Given the description of an element on the screen output the (x, y) to click on. 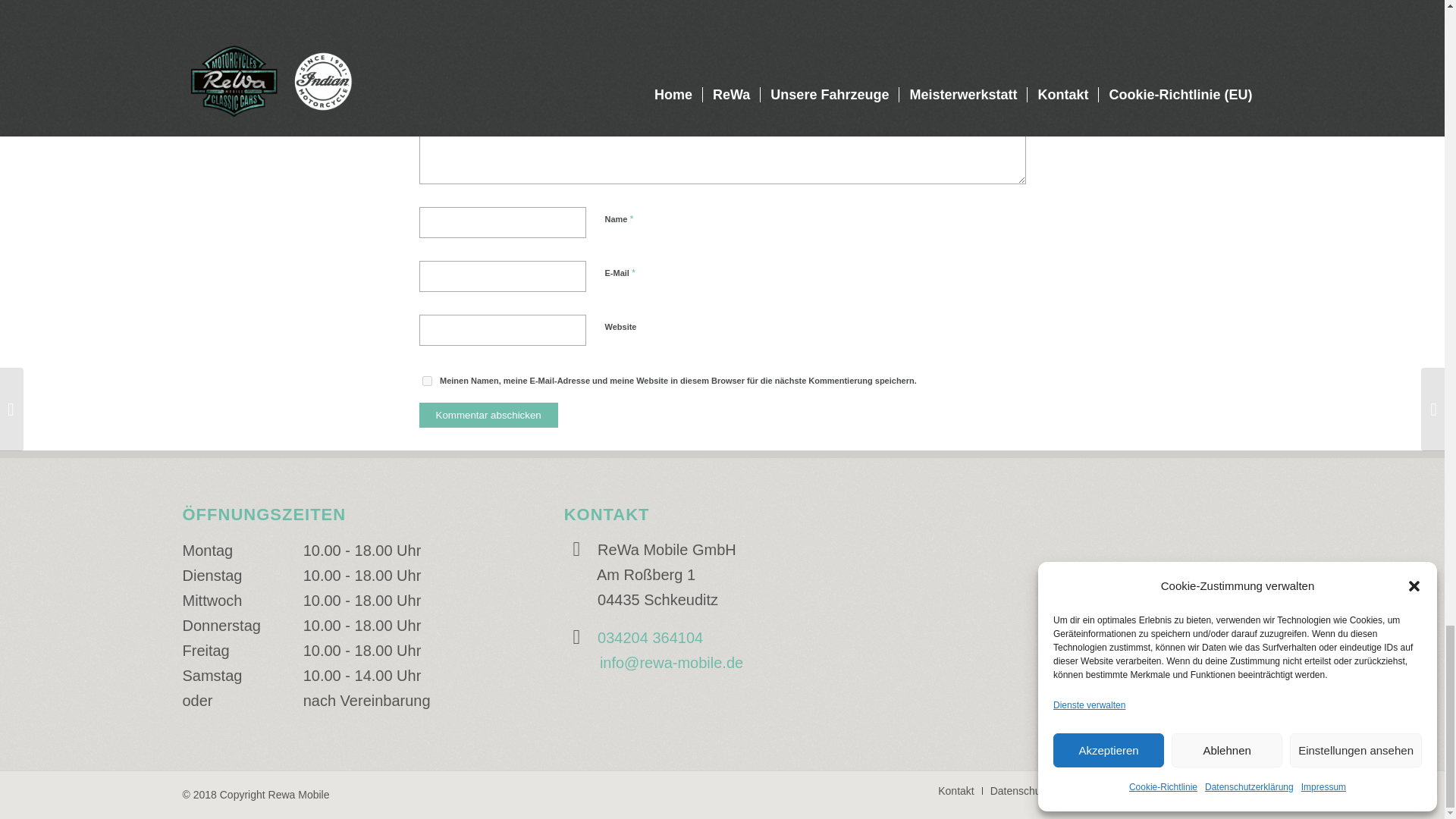
Rewa Mobile (298, 794)
Kommentar abschicken (488, 414)
034204 364104 (649, 637)
Kommentar abschicken (488, 414)
Sitemap (1196, 790)
Facebook (1250, 789)
Rewa Mobile (298, 794)
Impressum (1135, 790)
yes (426, 380)
Kontakt (955, 790)
